Given the description of an element on the screen output the (x, y) to click on. 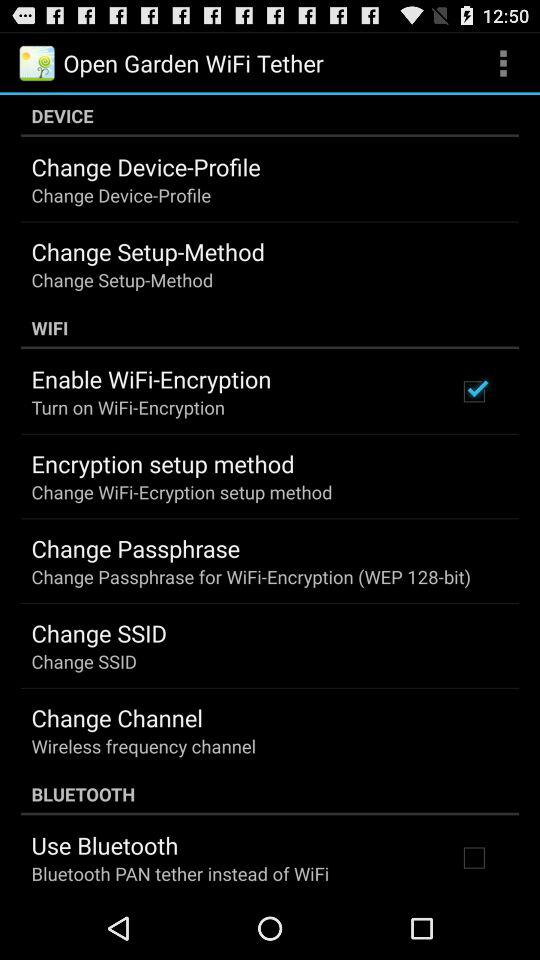
click app below the bluetooth icon (104, 845)
